Given the description of an element on the screen output the (x, y) to click on. 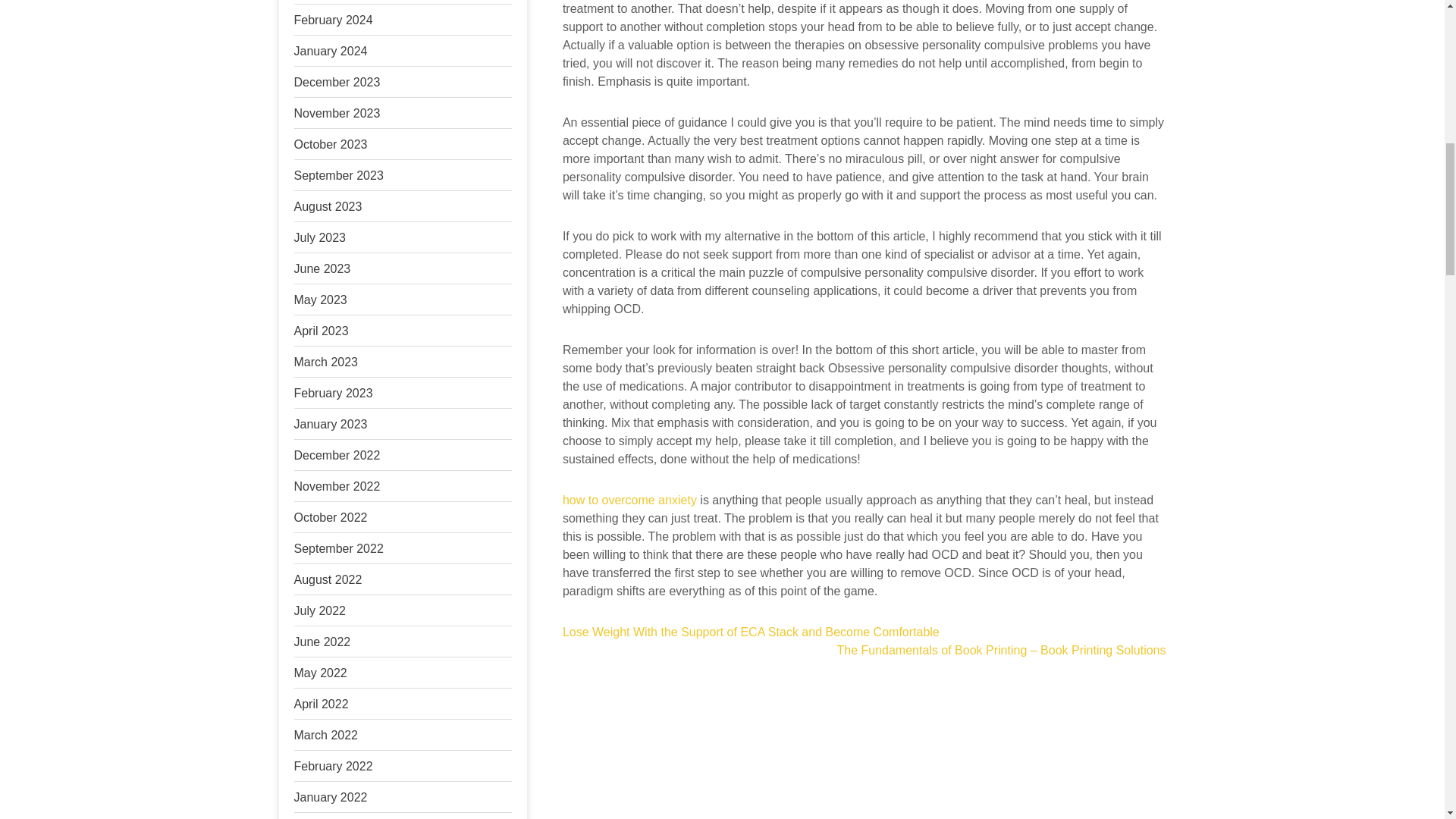
August 2023 (328, 205)
how to overcome anxiety (629, 499)
December 2023 (337, 82)
June 2023 (322, 268)
January 2024 (331, 51)
April 2023 (321, 330)
February 2023 (333, 392)
March 2023 (326, 361)
October 2023 (331, 144)
September 2023 (339, 174)
May 2023 (320, 299)
July 2023 (320, 237)
November 2023 (337, 113)
February 2024 (333, 19)
January 2023 (331, 423)
